Given the description of an element on the screen output the (x, y) to click on. 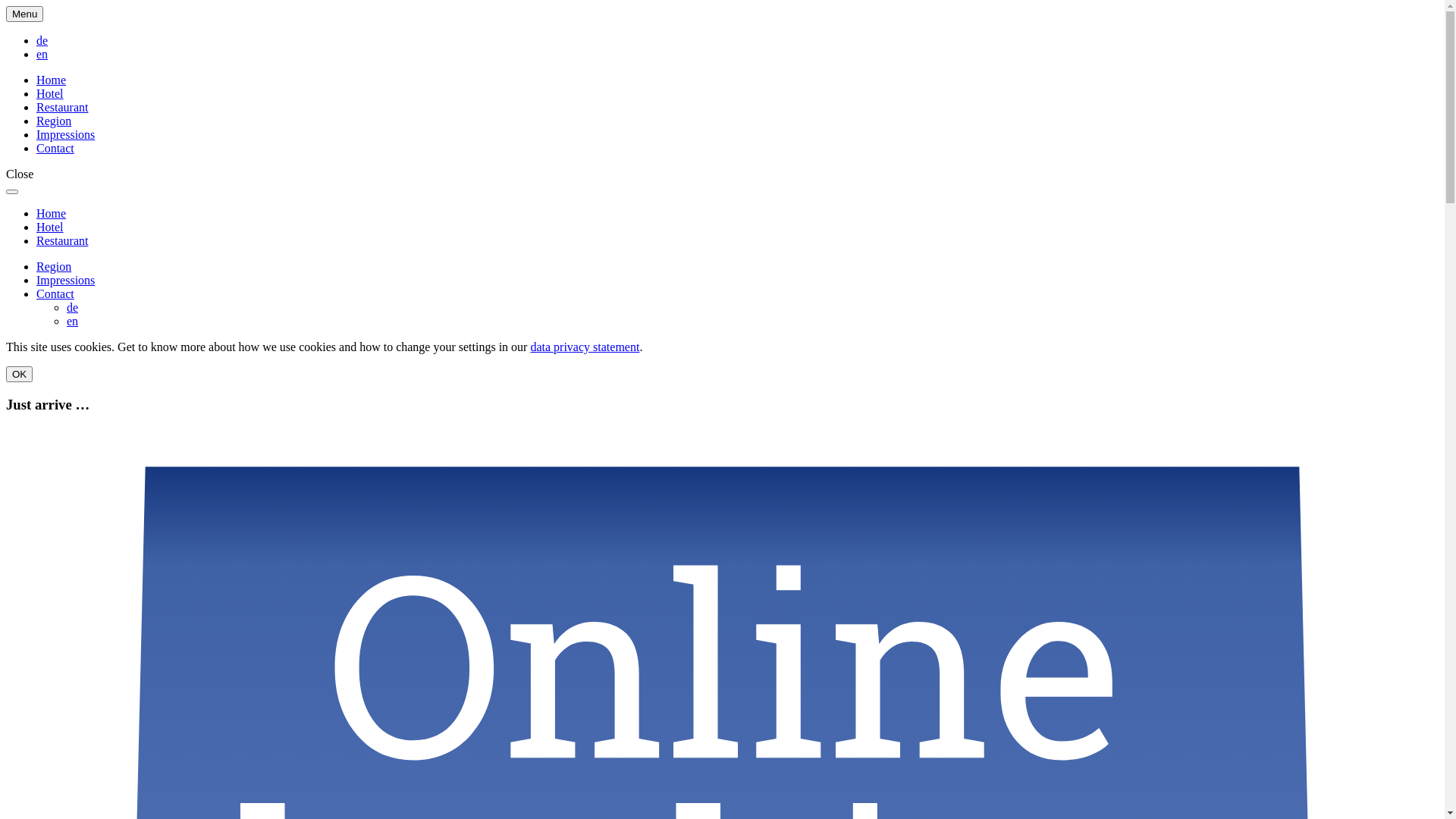
Impressions Element type: text (65, 134)
Contact Element type: text (55, 147)
Region Element type: text (53, 266)
OK Element type: text (19, 374)
en Element type: text (72, 320)
Menu Element type: text (24, 13)
de Element type: text (41, 40)
Hotel Element type: text (49, 226)
Restaurant Element type: text (61, 240)
Restaurant Element type: text (61, 106)
Close Element type: text (19, 173)
Contact Element type: text (55, 293)
Home Element type: text (50, 213)
Home Element type: text (50, 79)
Impressions Element type: text (65, 279)
Hotel Element type: text (49, 93)
Region Element type: text (53, 120)
data privacy statement Element type: text (584, 346)
en Element type: text (41, 53)
de Element type: text (72, 307)
